Given the description of an element on the screen output the (x, y) to click on. 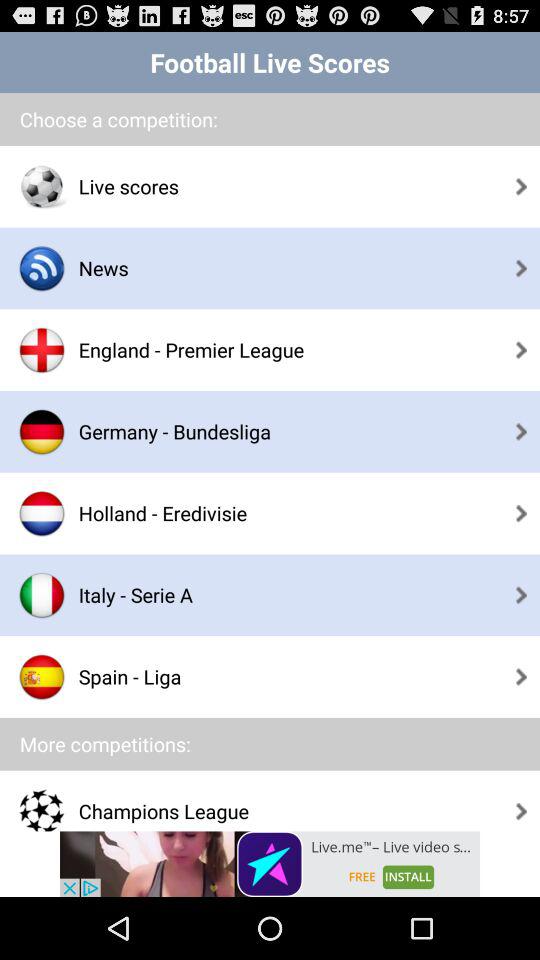
click on the mini image on the left side to englandpremier league (41, 350)
move to the fourth icon from the top (41, 431)
click on symbol next to holland  eredivisie (41, 512)
click on the third arrow from the top (521, 349)
click on icon right to champions league (521, 810)
